Given the description of an element on the screen output the (x, y) to click on. 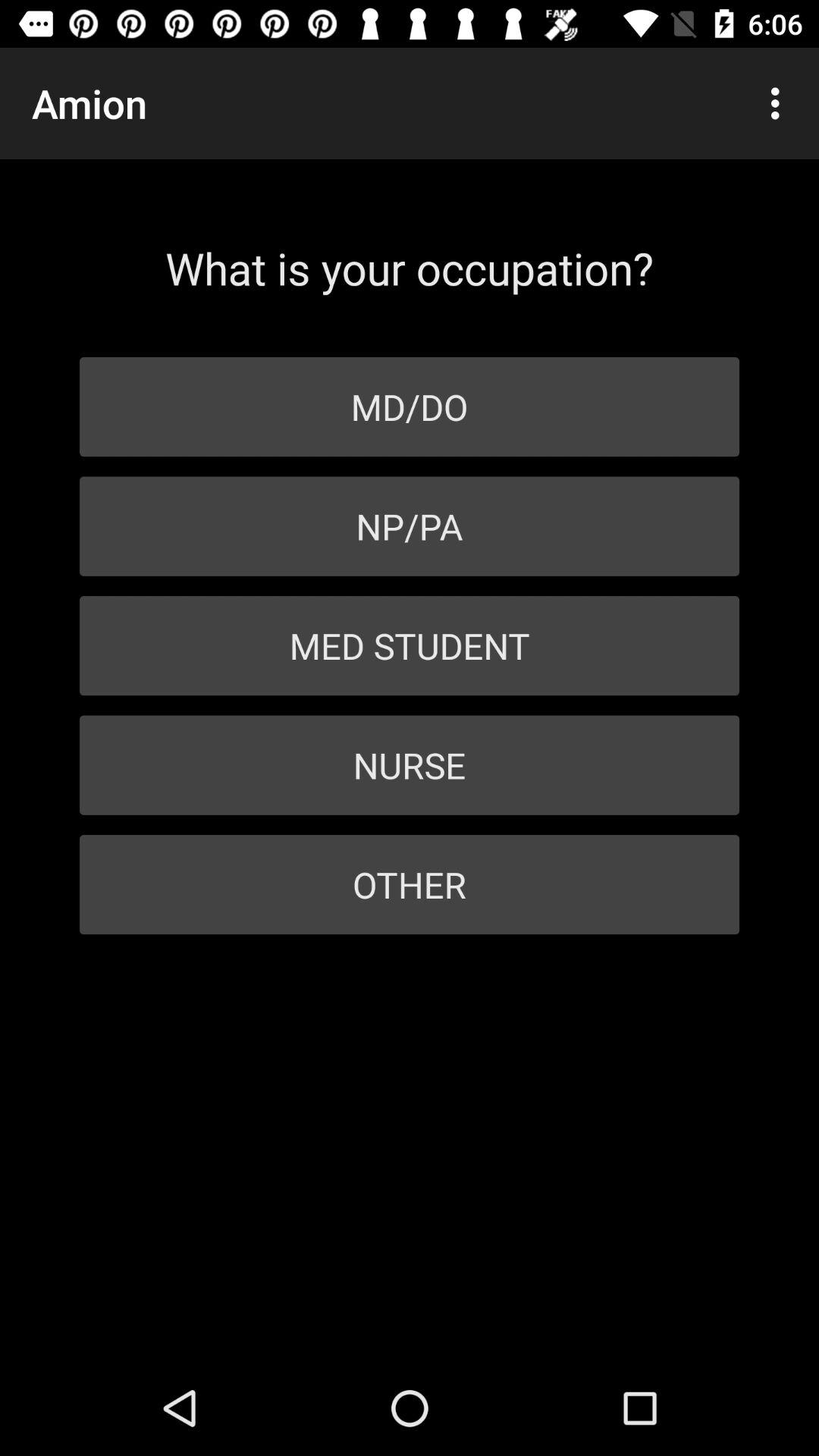
turn off the item above the nurse (409, 645)
